Given the description of an element on the screen output the (x, y) to click on. 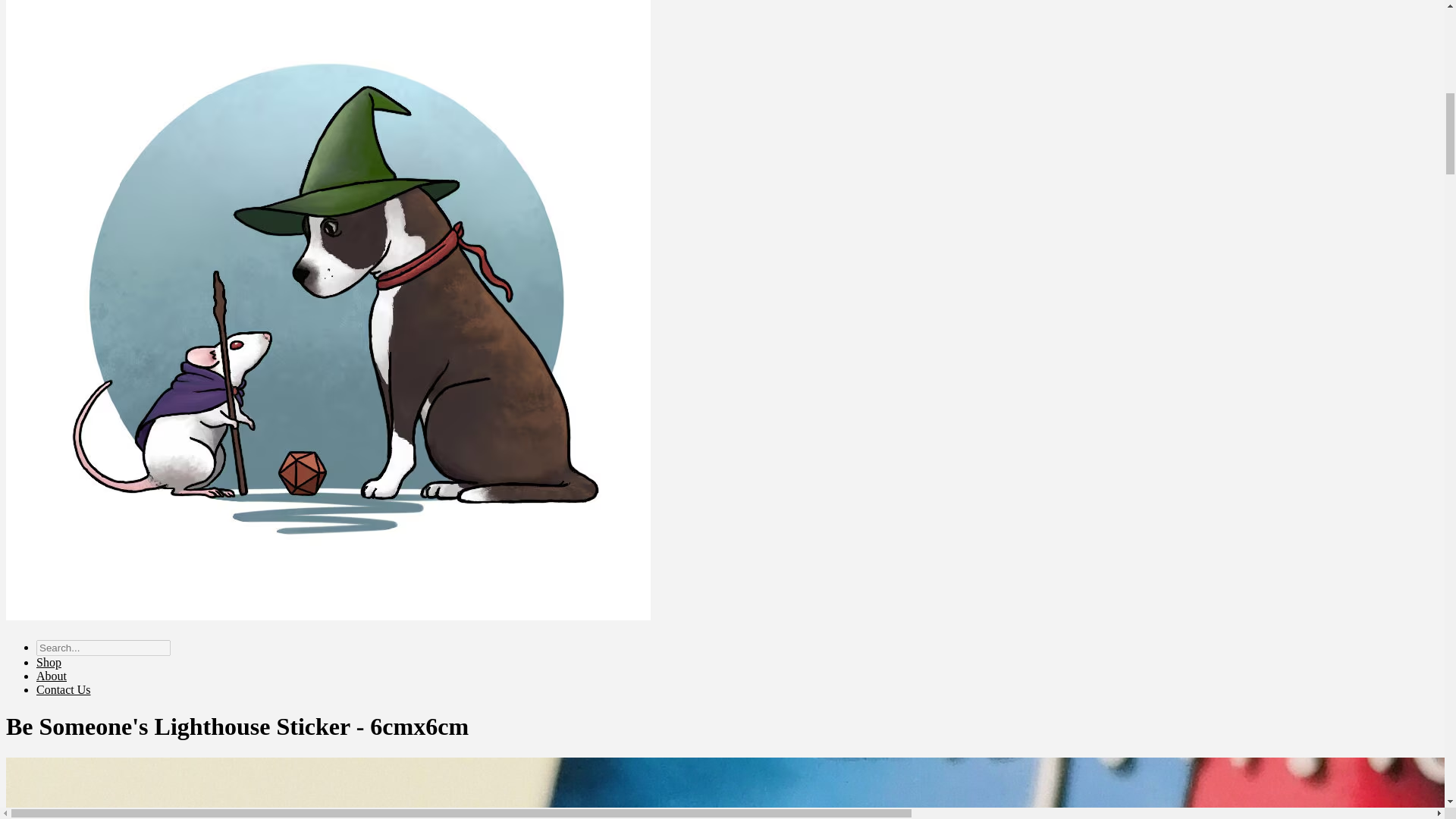
About (51, 675)
Contact Us (63, 689)
Shop (48, 662)
